Given the description of an element on the screen output the (x, y) to click on. 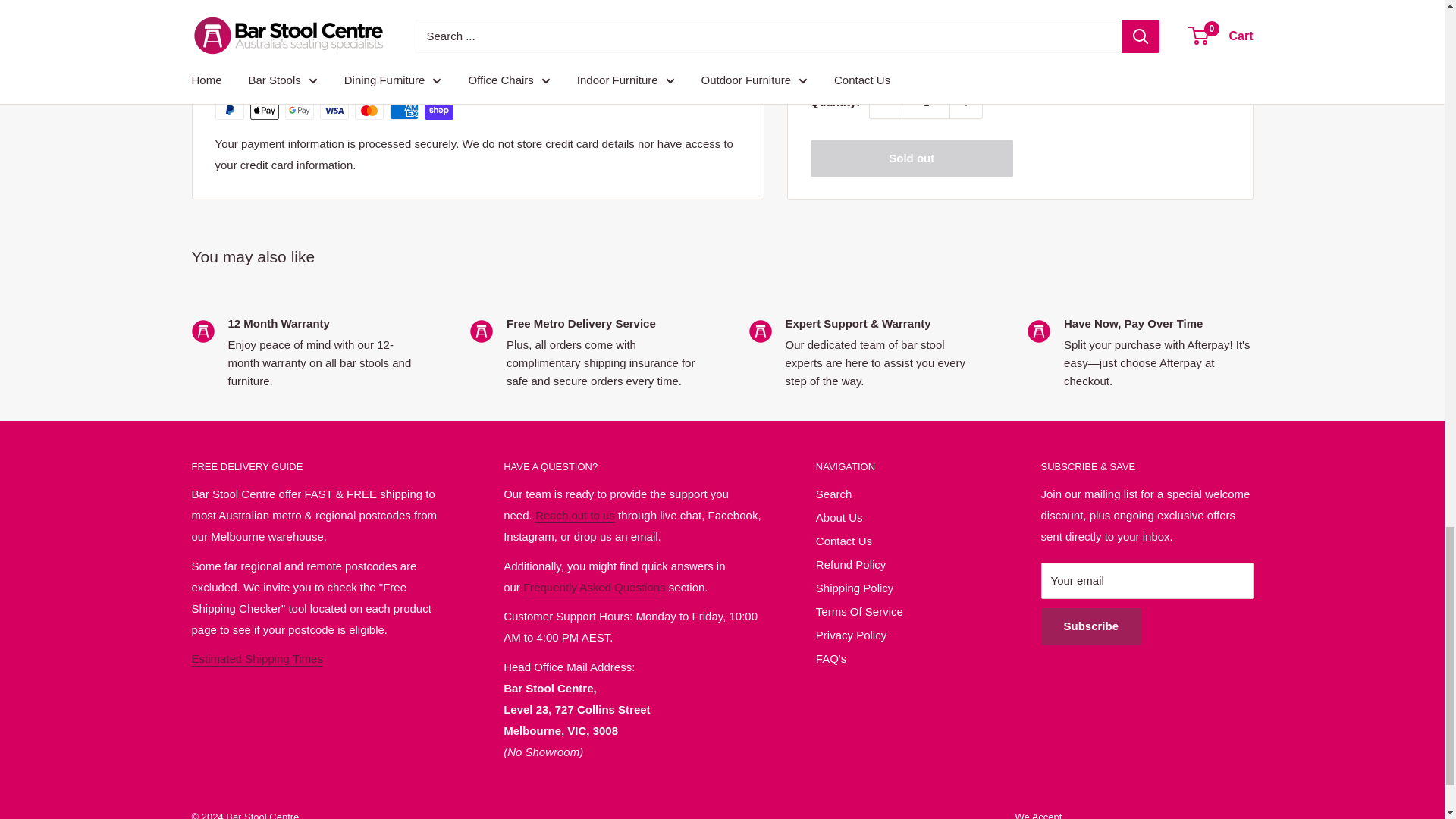
Estimated Shipping Times (255, 658)
Frequently Asked Questions (593, 586)
Contact Bar Stool Centre (574, 514)
